Given the description of an element on the screen output the (x, y) to click on. 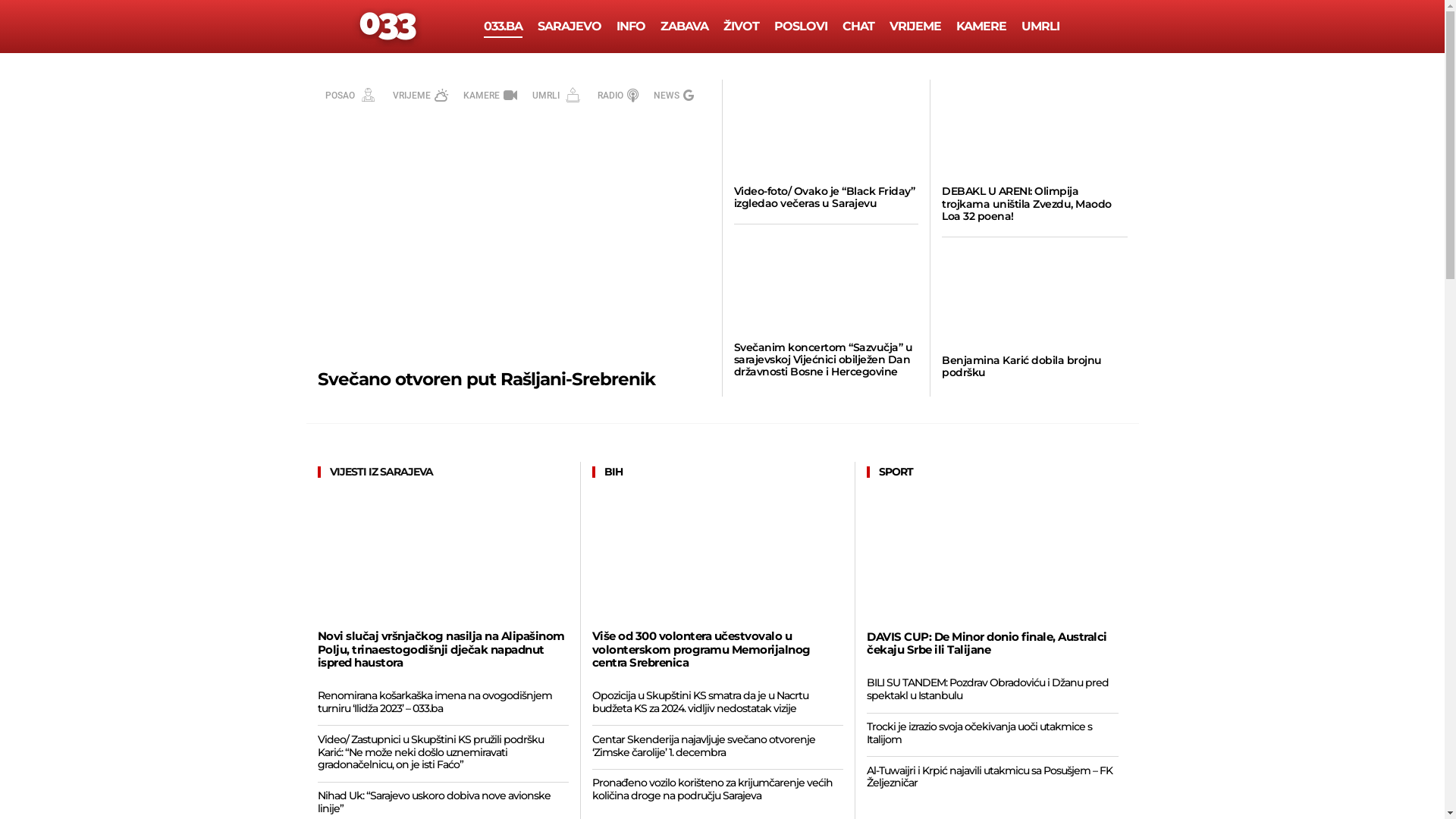
UMRLI Element type: text (557, 94)
UMRLI Element type: text (1040, 26)
ZABAVA Element type: text (684, 26)
VRIJEME Element type: text (915, 26)
KAMERE Element type: text (981, 26)
INFO Element type: text (630, 26)
SARAJEVO Element type: text (569, 26)
RADIO Element type: text (617, 94)
VRIJEME Element type: text (420, 94)
CHAT Element type: text (858, 26)
033.BA Element type: text (502, 26)
POSLOVI Element type: text (800, 26)
NEWS Element type: text (673, 94)
POSAO Element type: text (351, 94)
KAMERE Element type: text (490, 94)
VIJESTI IZ SARAJEVA Element type: text (378, 471)
